Given the description of an element on the screen output the (x, y) to click on. 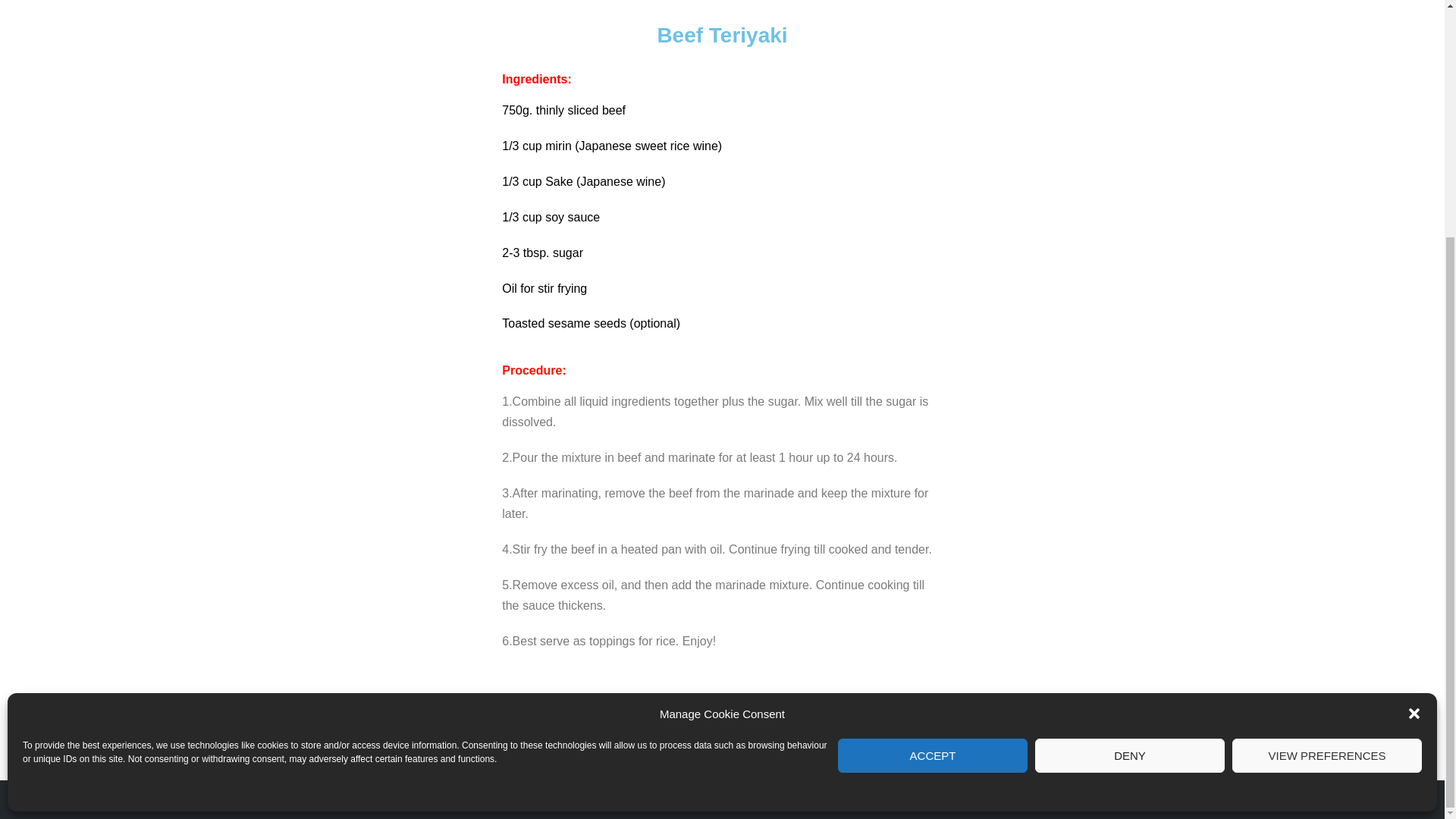
ACCEPT (932, 430)
VIEW PREFERENCES (1326, 430)
DENY (1129, 430)
